Given the description of an element on the screen output the (x, y) to click on. 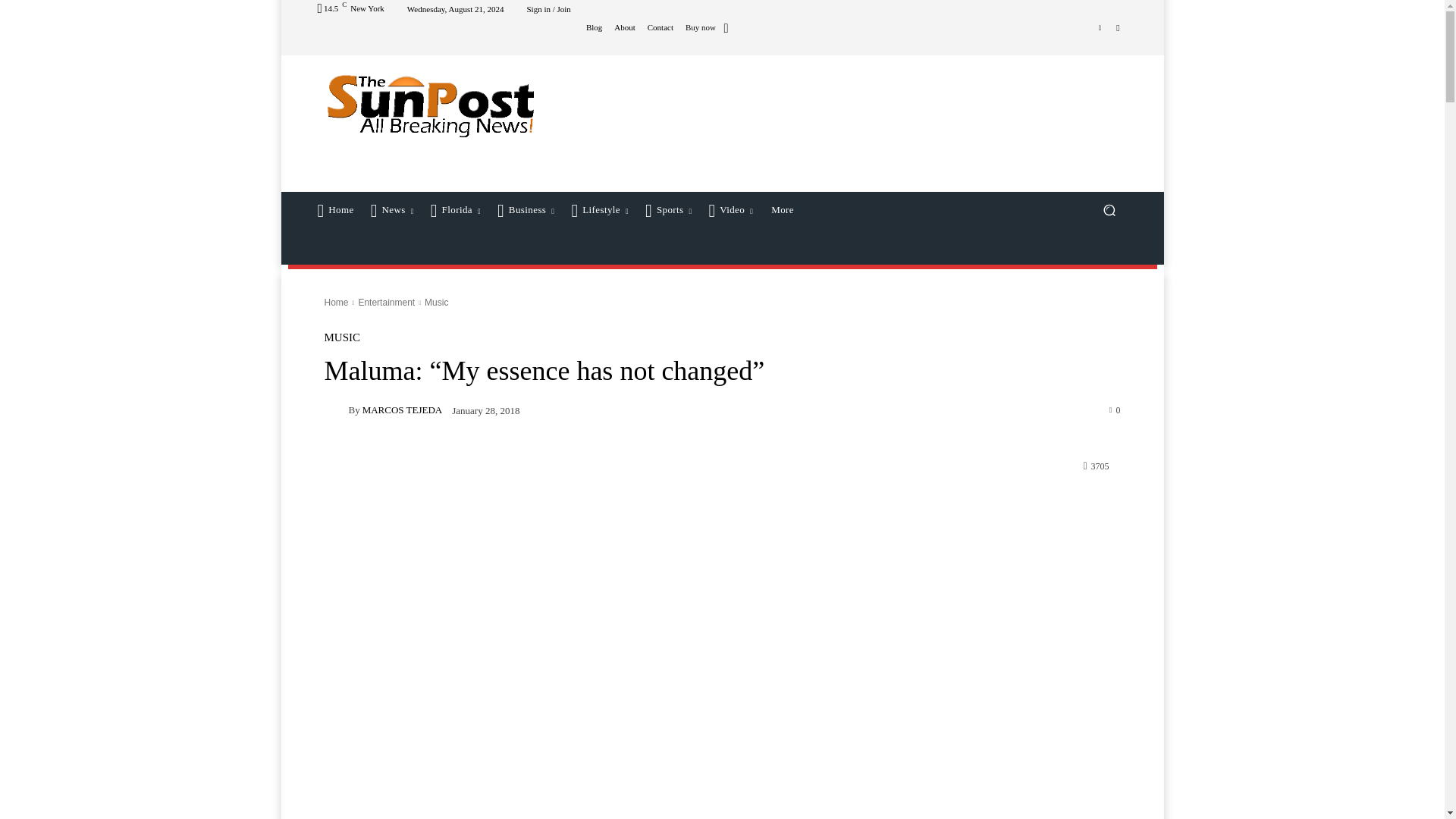
About (624, 27)
Youtube (1117, 27)
Blog (594, 27)
Vimeo (1099, 27)
Contact (659, 27)
